Given the description of an element on the screen output the (x, y) to click on. 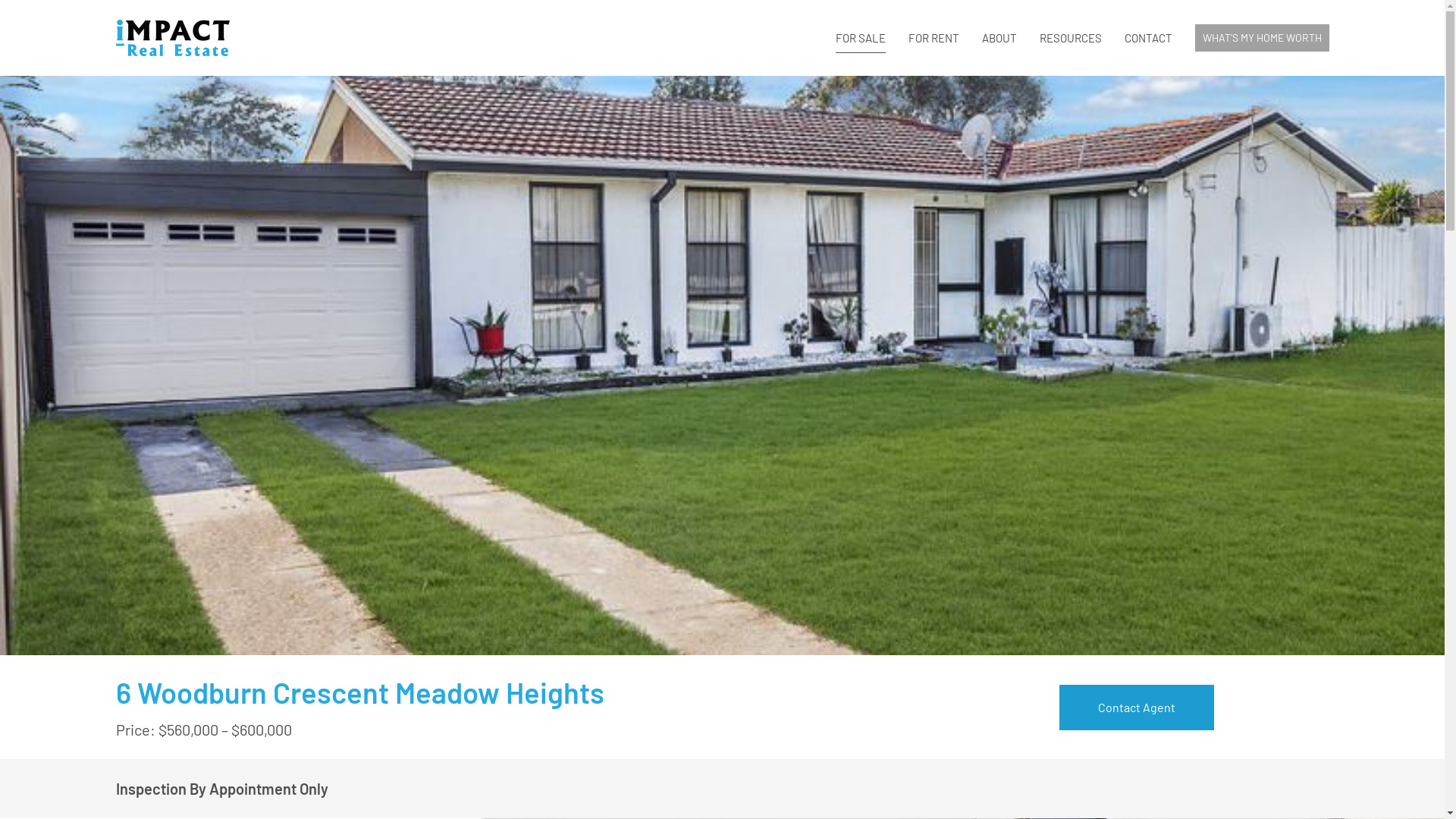
FOR SALE Element type: text (859, 37)
WHAT'S MY HOME WORTH Element type: text (1262, 37)
RESOURCES Element type: text (1070, 37)
Contact Agent Element type: text (1136, 707)
ABOUT Element type: text (999, 37)
CONTACT Element type: text (1148, 37)
FOR RENT Element type: text (932, 37)
